Given the description of an element on the screen output the (x, y) to click on. 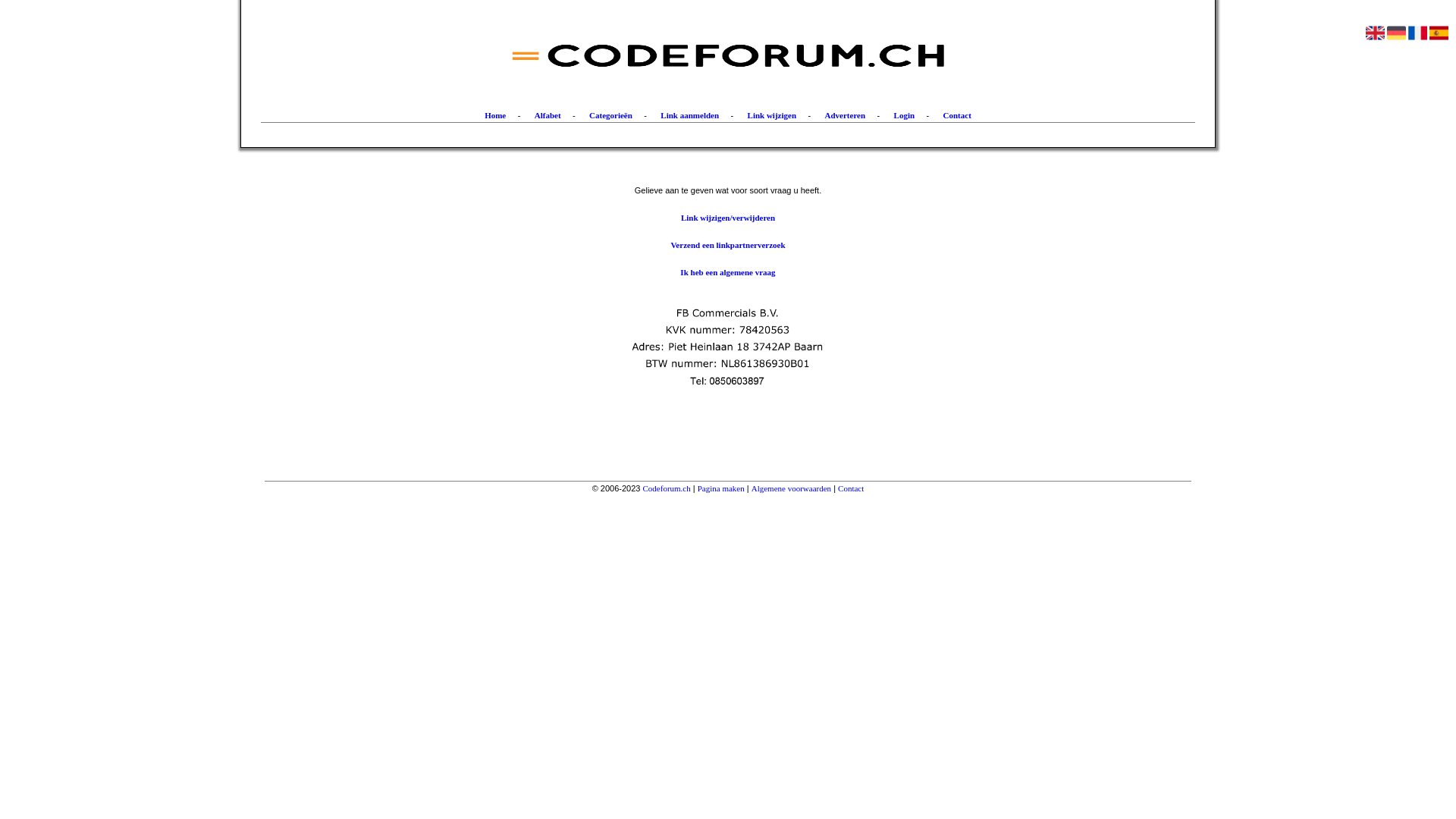
Login Element type: text (904, 114)
Ik heb een algemene vraag Element type: text (727, 271)
Link aanmelden Element type: text (689, 114)
Link wijzigen Element type: text (771, 114)
Adverteren Element type: text (845, 114)
Pagina maken Element type: text (720, 487)
Home Element type: text (494, 114)
Link wijzigen/verwijderen Element type: text (727, 217)
Algemene voorwaarden Element type: text (791, 487)
Codeforum.ch Element type: text (666, 487)
Alfabet Element type: text (547, 114)
Contact Element type: text (957, 114)
Verzend een linkpartnerverzoek Element type: text (727, 244)
Contact Element type: text (850, 487)
